Given the description of an element on the screen output the (x, y) to click on. 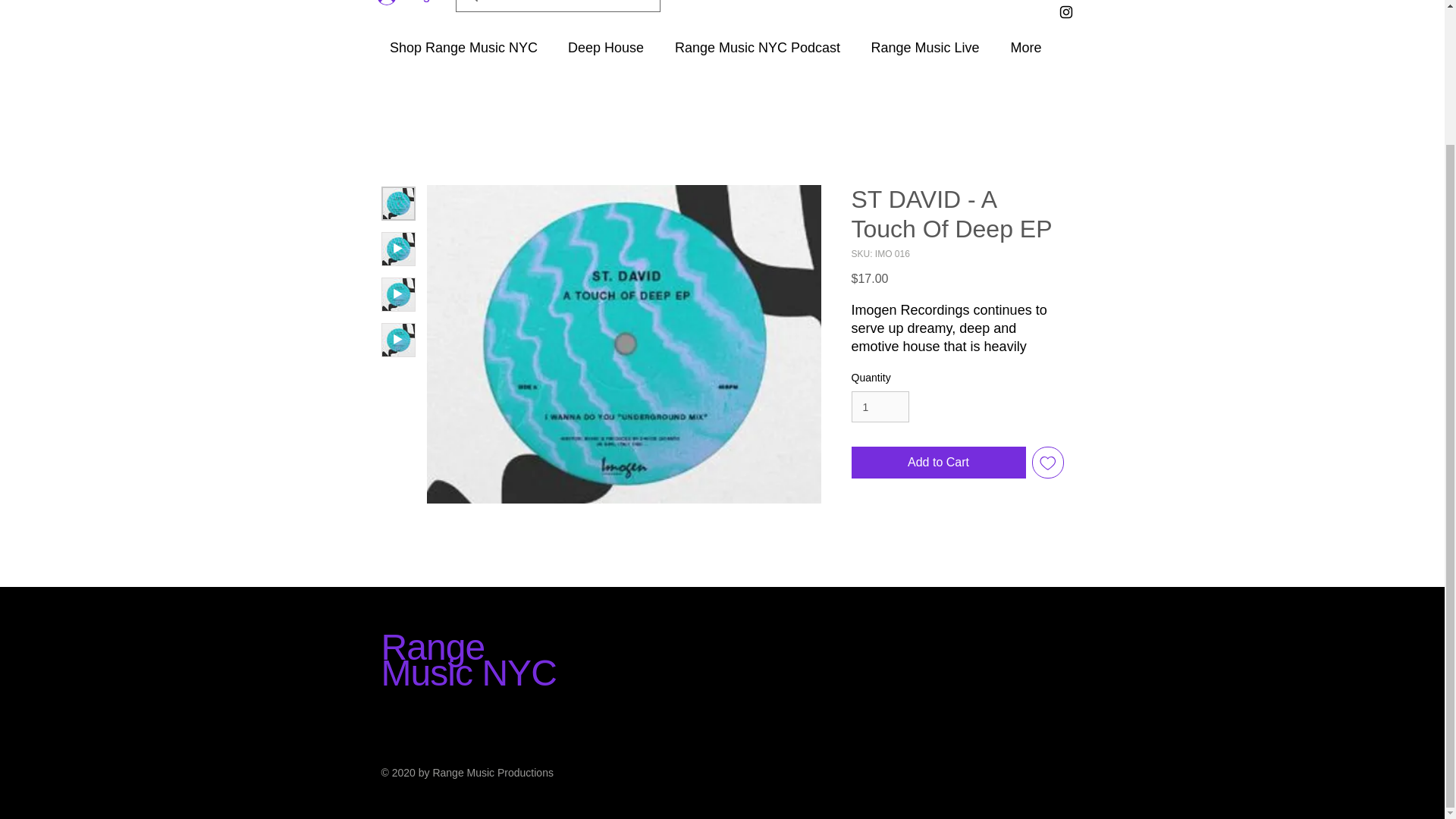
Range Music NYC Podcast (757, 48)
Deep House (605, 48)
1 (879, 406)
Add to Cart (937, 462)
Shop Range Music NYC (462, 48)
Do Not Sell My Personal Information (951, 607)
Log In (410, 4)
Range Music Live (925, 48)
